Given the description of an element on the screen output the (x, y) to click on. 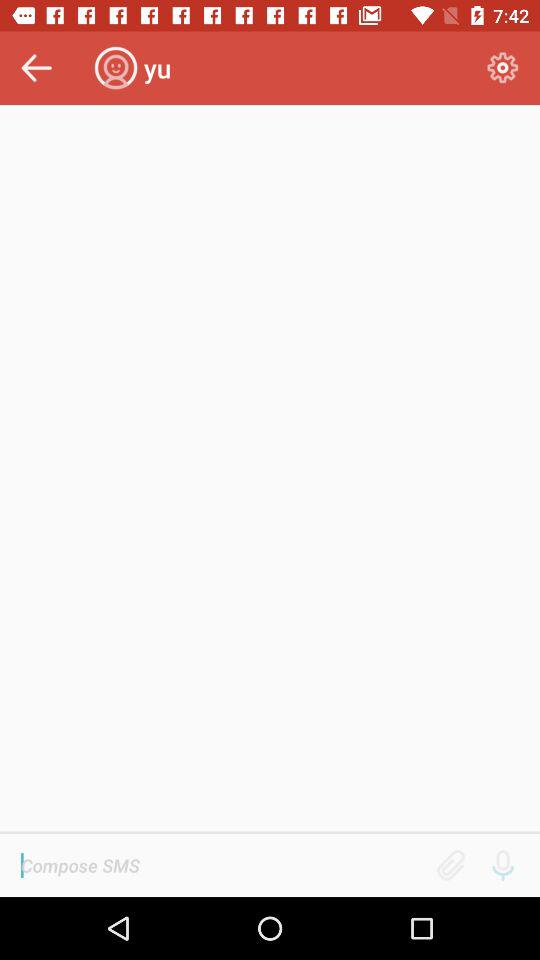
enter words (222, 865)
